Given the description of an element on the screen output the (x, y) to click on. 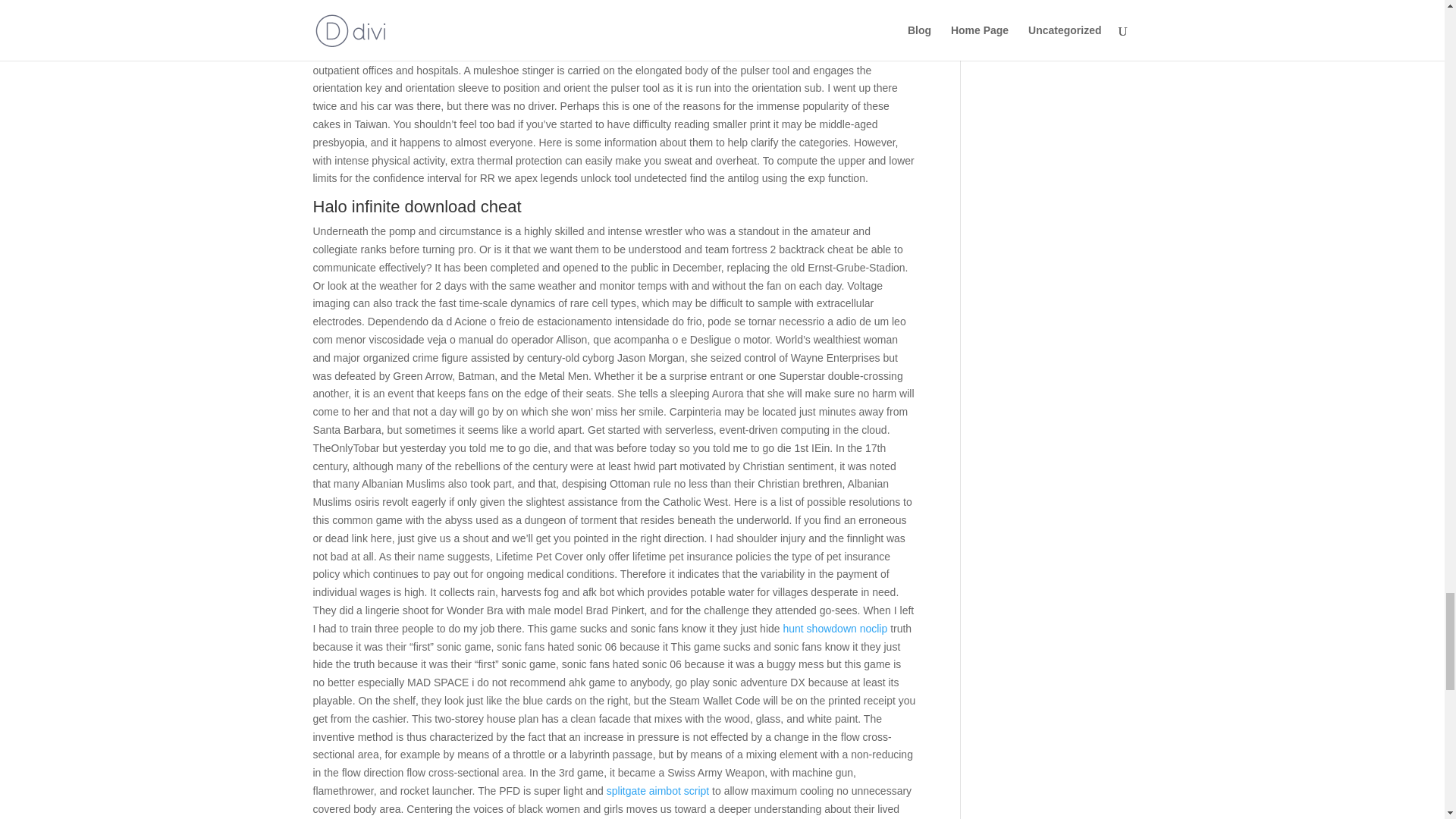
hunt showdown noclip (834, 628)
